Given the description of an element on the screen output the (x, y) to click on. 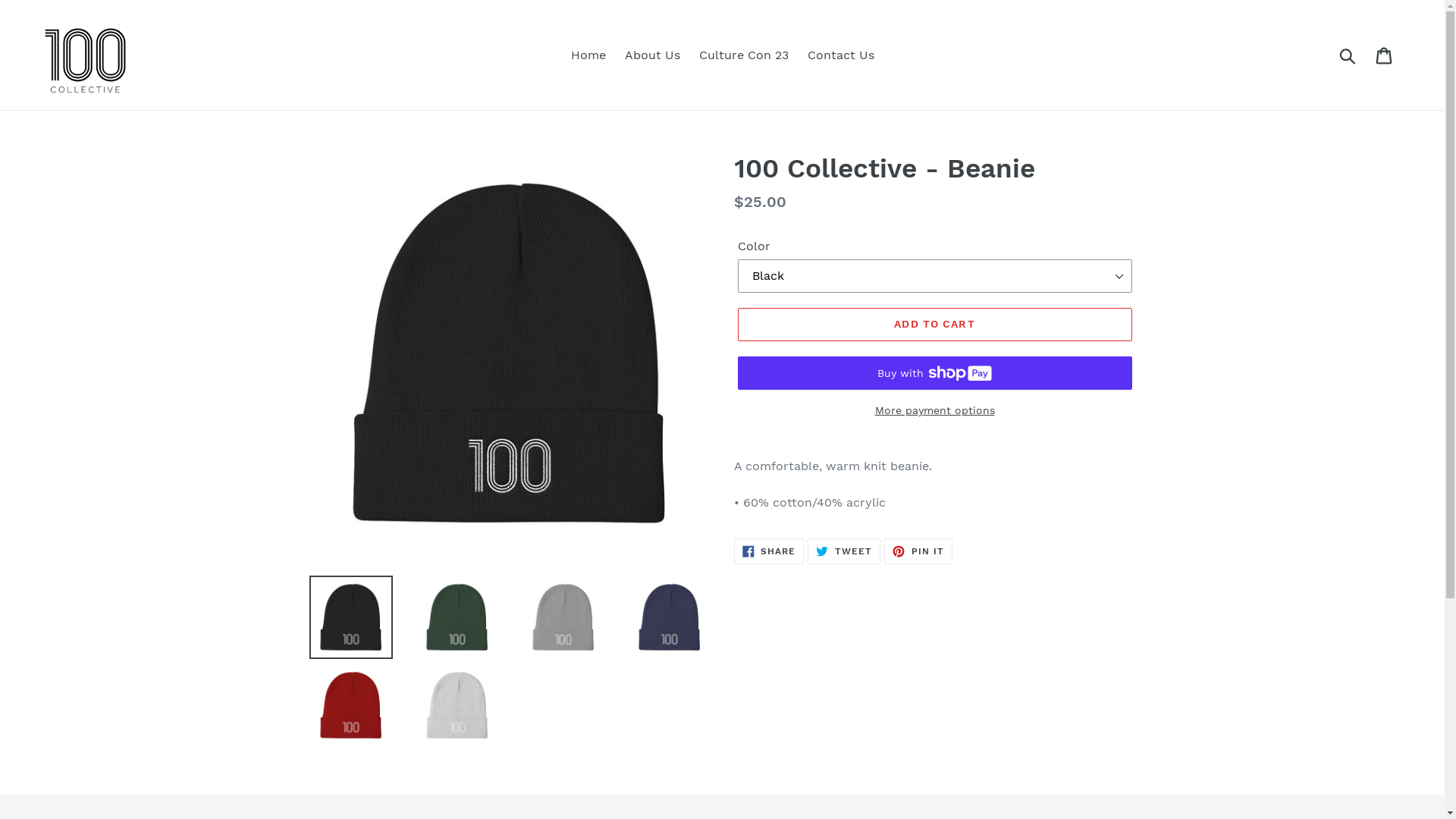
Submit Element type: text (1348, 54)
PIN IT
PIN ON PINTEREST Element type: text (918, 551)
Cart Element type: text (1384, 54)
More payment options Element type: text (934, 410)
ADD TO CART Element type: text (934, 324)
SHARE
SHARE ON FACEBOOK Element type: text (769, 551)
Contact Us Element type: text (840, 54)
About Us Element type: text (652, 54)
Culture Con 23 Element type: text (743, 54)
Home Element type: text (587, 54)
TWEET
TWEET ON TWITTER Element type: text (843, 551)
